Given the description of an element on the screen output the (x, y) to click on. 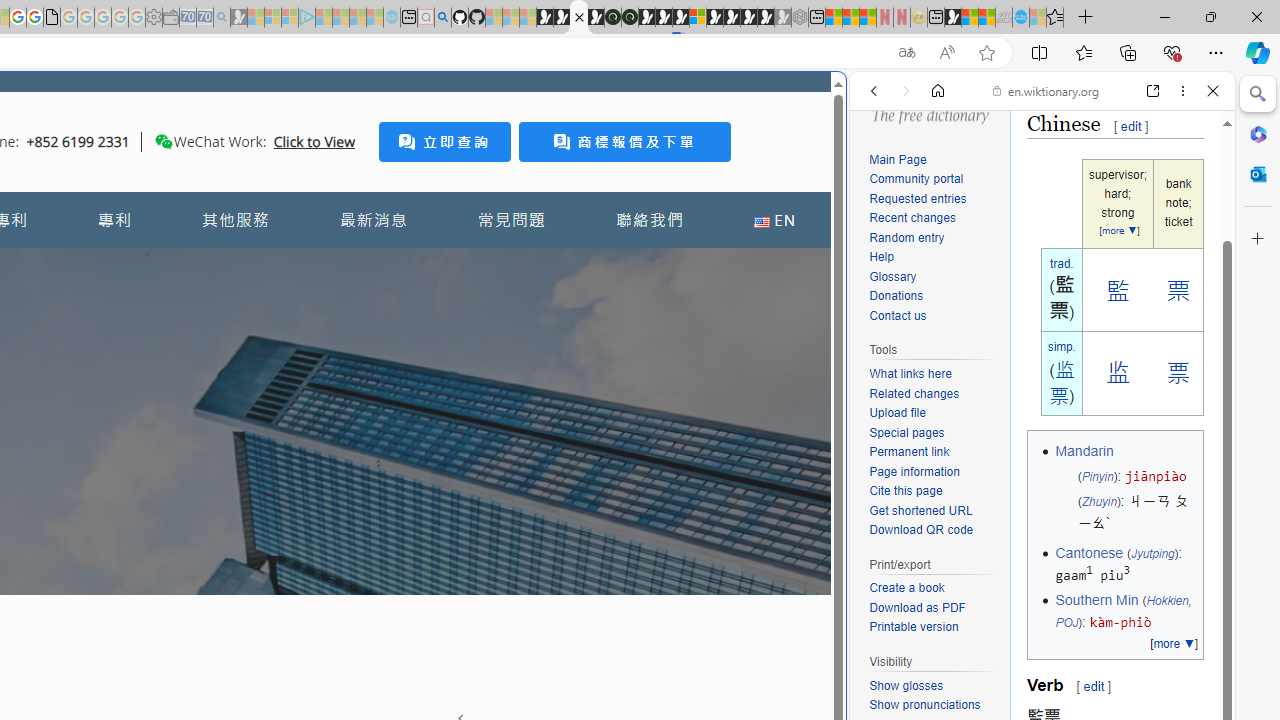
Cantonese (Jyutping): gaam1 piu3 (1126, 564)
Jyutping (1152, 552)
WEB   (882, 228)
Sign in to your account (697, 17)
Show glosses (906, 685)
Pinyin (1097, 476)
Future Focus Report 2024 (629, 17)
Permanent link (909, 452)
